Given the description of an element on the screen output the (x, y) to click on. 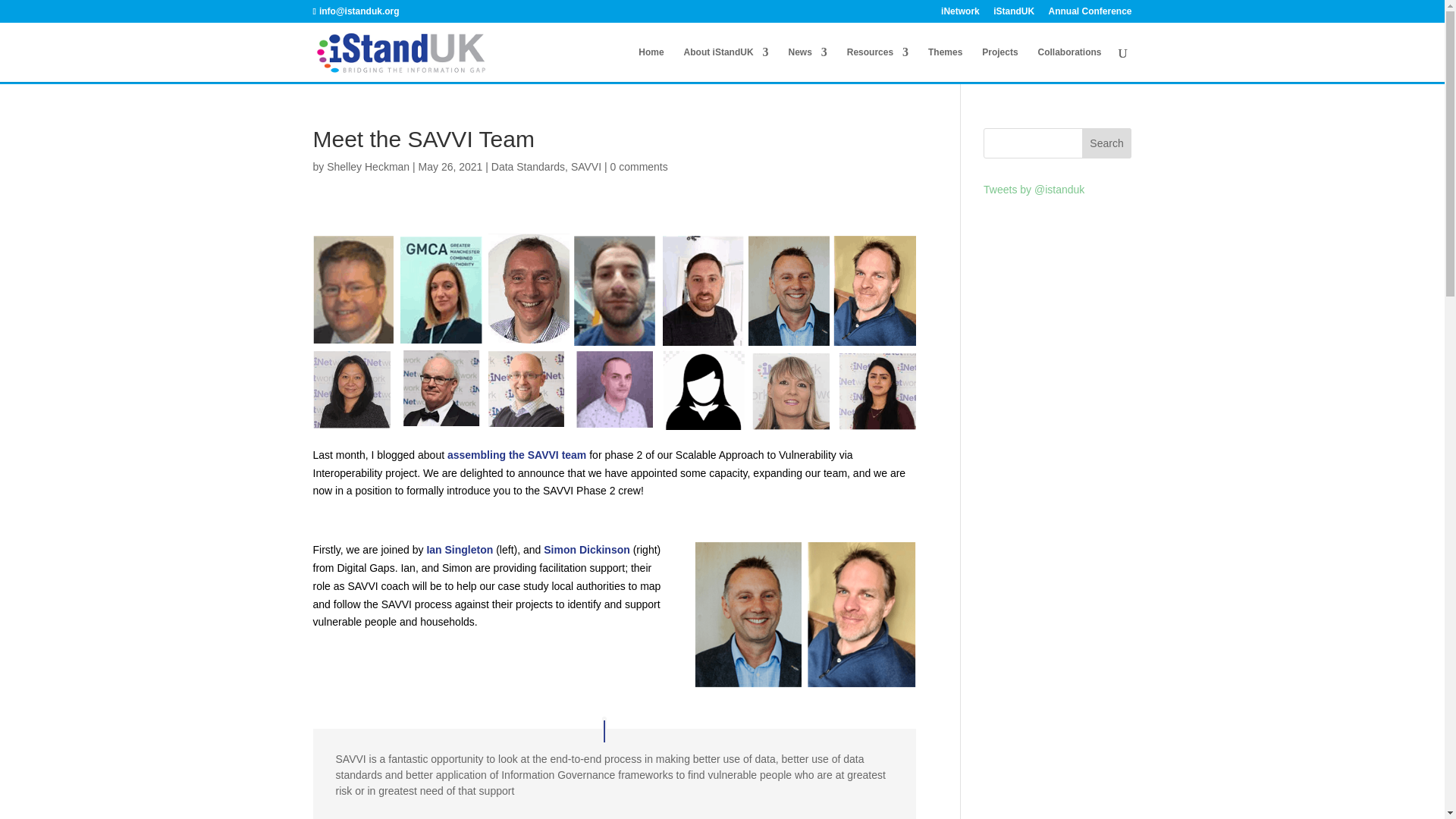
1621975653733 (614, 331)
Resources (877, 63)
iNetwork (959, 14)
Ian Singleton (459, 549)
0 comments (639, 166)
Projects (999, 63)
About iStandUK (726, 63)
Annual Conference (1089, 14)
assembling the SAVVI team  (517, 454)
digital gaps (804, 614)
Simon Dickinson (586, 549)
iStandUK (1012, 14)
News (807, 63)
Themes (945, 63)
Data Standards (528, 166)
